Given the description of an element on the screen output the (x, y) to click on. 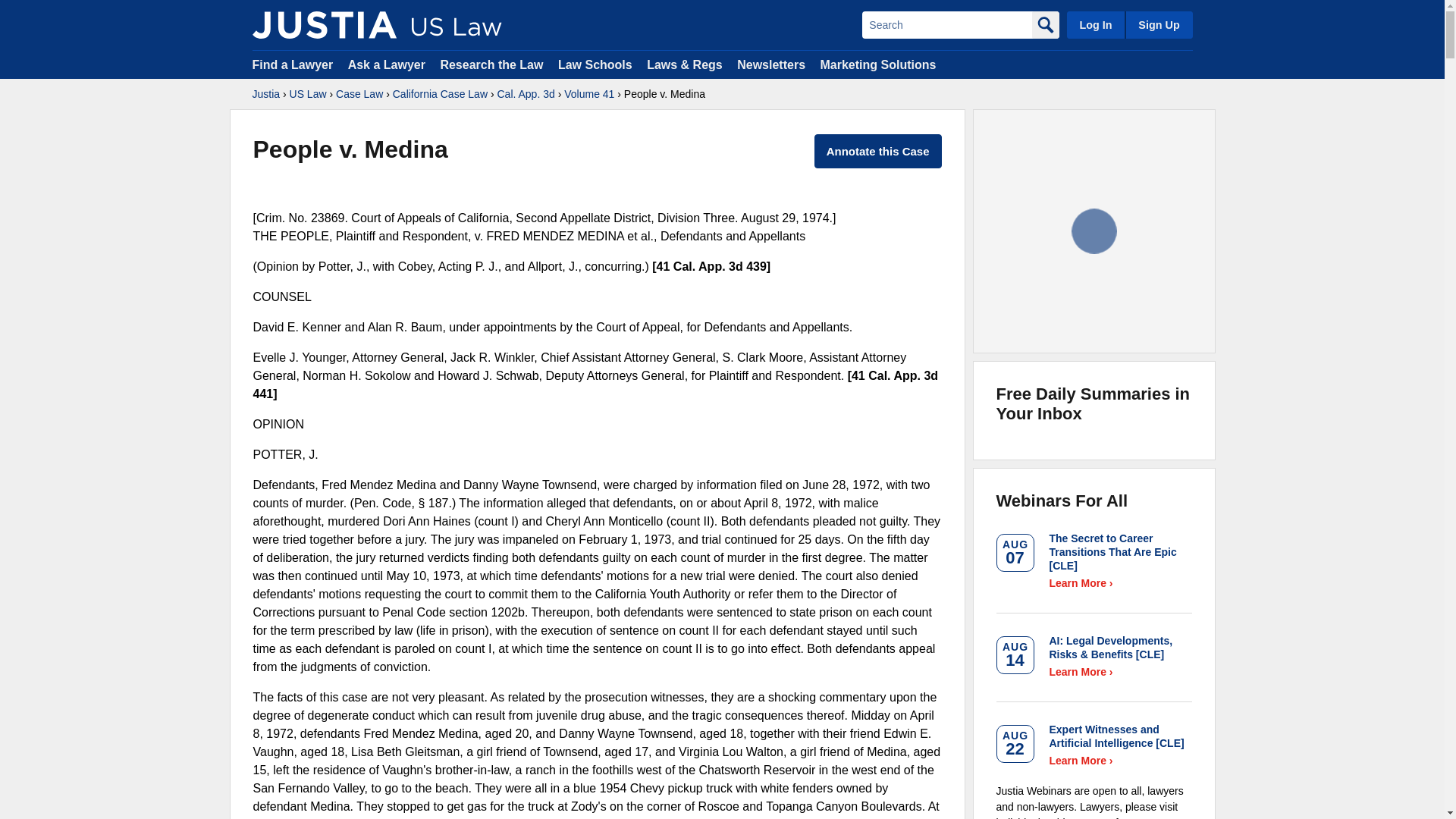
US Law (307, 93)
Search (945, 24)
Law Schools (594, 64)
Marketing Solutions (877, 64)
Volume 41 (589, 93)
California Case Law (440, 93)
Log In (1094, 24)
Cal. App. 3d (525, 93)
Justia (265, 93)
Ask a Lawyer (388, 64)
Justia (323, 24)
Sign Up (1158, 24)
Newsletters (770, 64)
Find a Lawyer (292, 64)
Annotate this Case (877, 151)
